Given the description of an element on the screen output the (x, y) to click on. 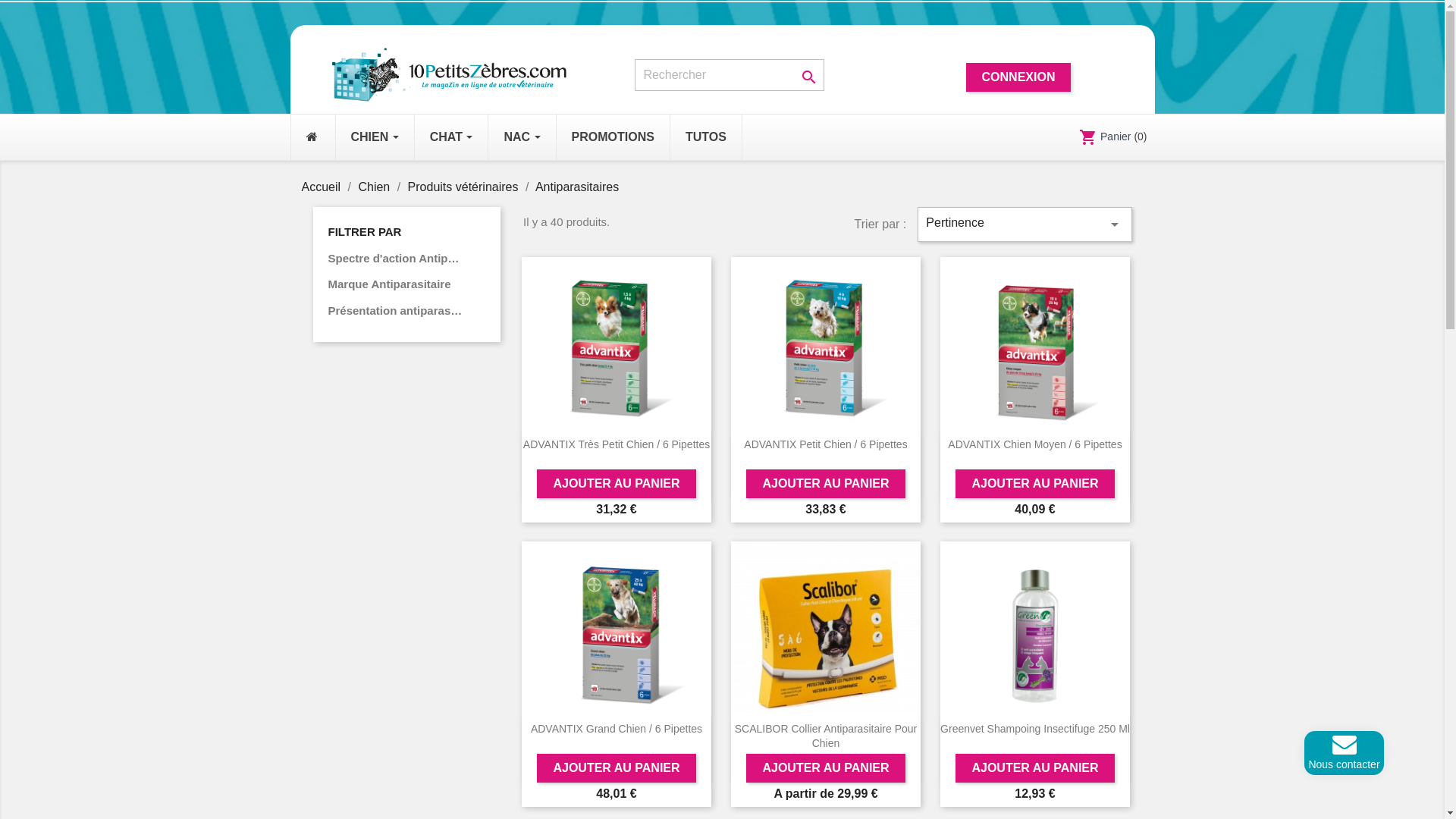
TUTOS Element type: text (705, 137)
CONNEXION Element type: text (1018, 76)
Antiparasitaires Element type: text (576, 186)
CHAT Element type: text (451, 137)
AJOUTER AU PANIER Element type: text (615, 483)
Nous contacter Element type: text (1343, 751)
NAC Element type: text (521, 137)
CHIEN Element type: text (374, 137)
Chien Element type: text (374, 186)
AJOUTER AU PANIER Element type: text (615, 767)
AJOUTER AU PANIER Element type: text (1034, 483)
AJOUTER AU PANIER Element type: text (825, 767)
ADVANTIX Chien Moyen / 6 Pipettes Element type: text (1034, 444)
PROMOTIONS Element type: text (612, 137)
AJOUTER AU PANIER Element type: text (825, 483)
ADVANTIX Petit Chien / 6 Pipettes Element type: text (824, 444)
Greenvet Shampoing Insectifuge 250 Ml Element type: text (1034, 728)
SCALIBOR Collier Antiparasitaire Pour Chien Element type: text (825, 735)
AJOUTER AU PANIER Element type: text (1034, 767)
ADVANTIX Grand Chien / 6 Pipettes Element type: text (616, 728)
Accueil Element type: text (322, 186)
